Given the description of an element on the screen output the (x, y) to click on. 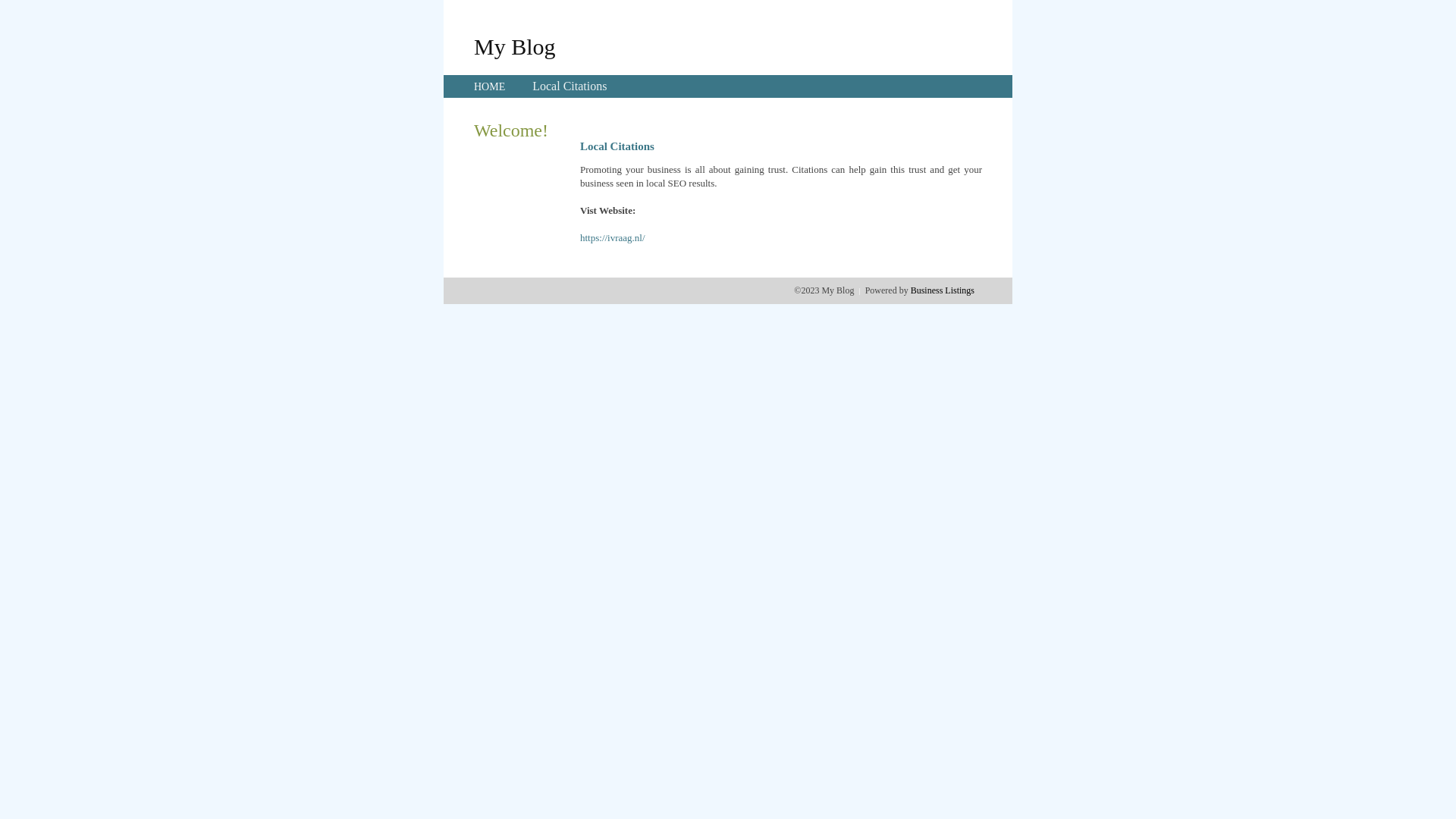
https://ivraag.nl/ Element type: text (612, 237)
Business Listings Element type: text (942, 290)
HOME Element type: text (489, 86)
My Blog Element type: text (514, 46)
Local Citations Element type: text (569, 85)
